Given the description of an element on the screen output the (x, y) to click on. 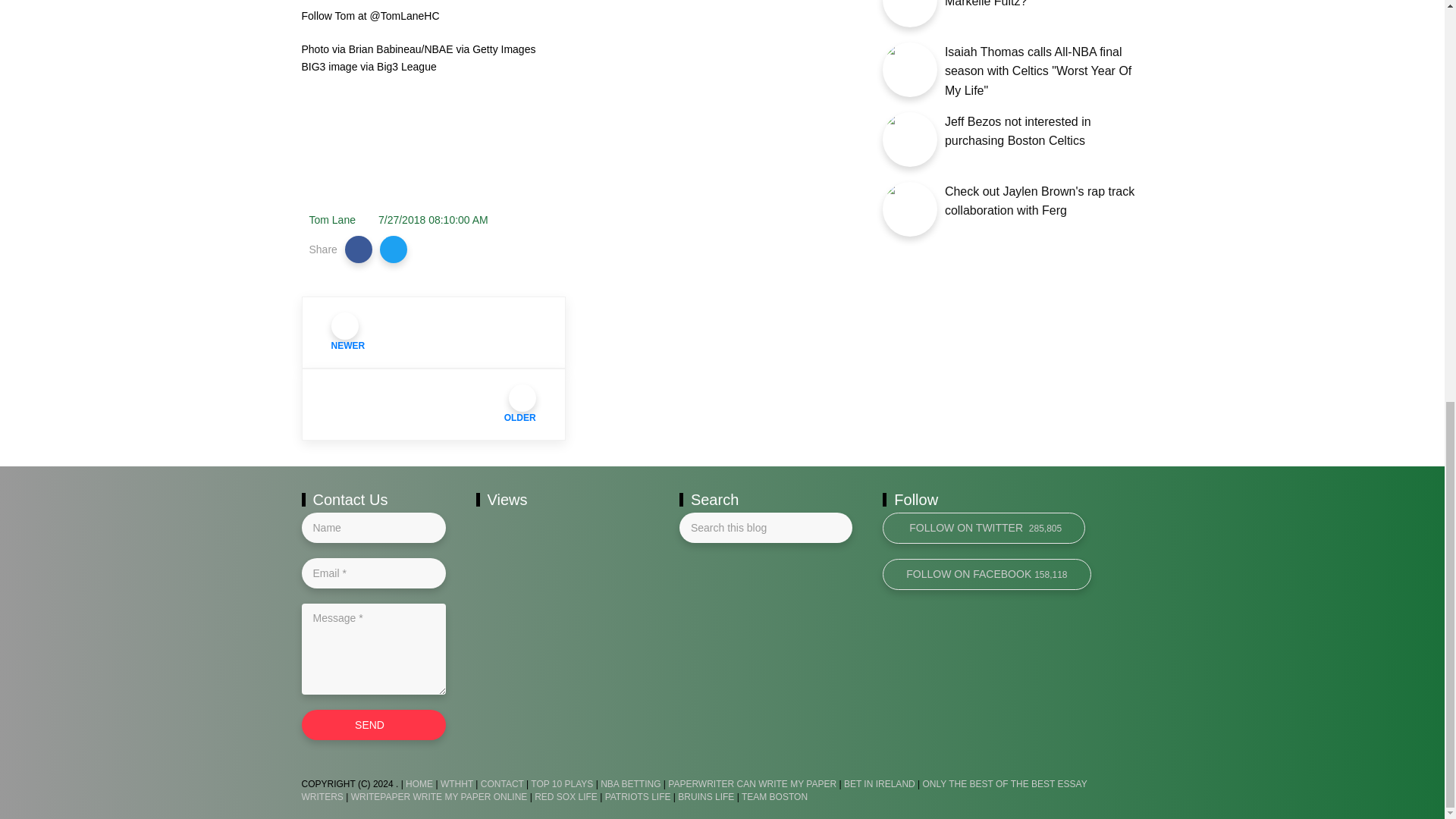
Share to Facebook (358, 248)
author profile (331, 219)
permanent link (432, 219)
NEWER (433, 332)
Share to Twitter (393, 248)
Tom Lane (331, 219)
OLDER (433, 404)
